Given the description of an element on the screen output the (x, y) to click on. 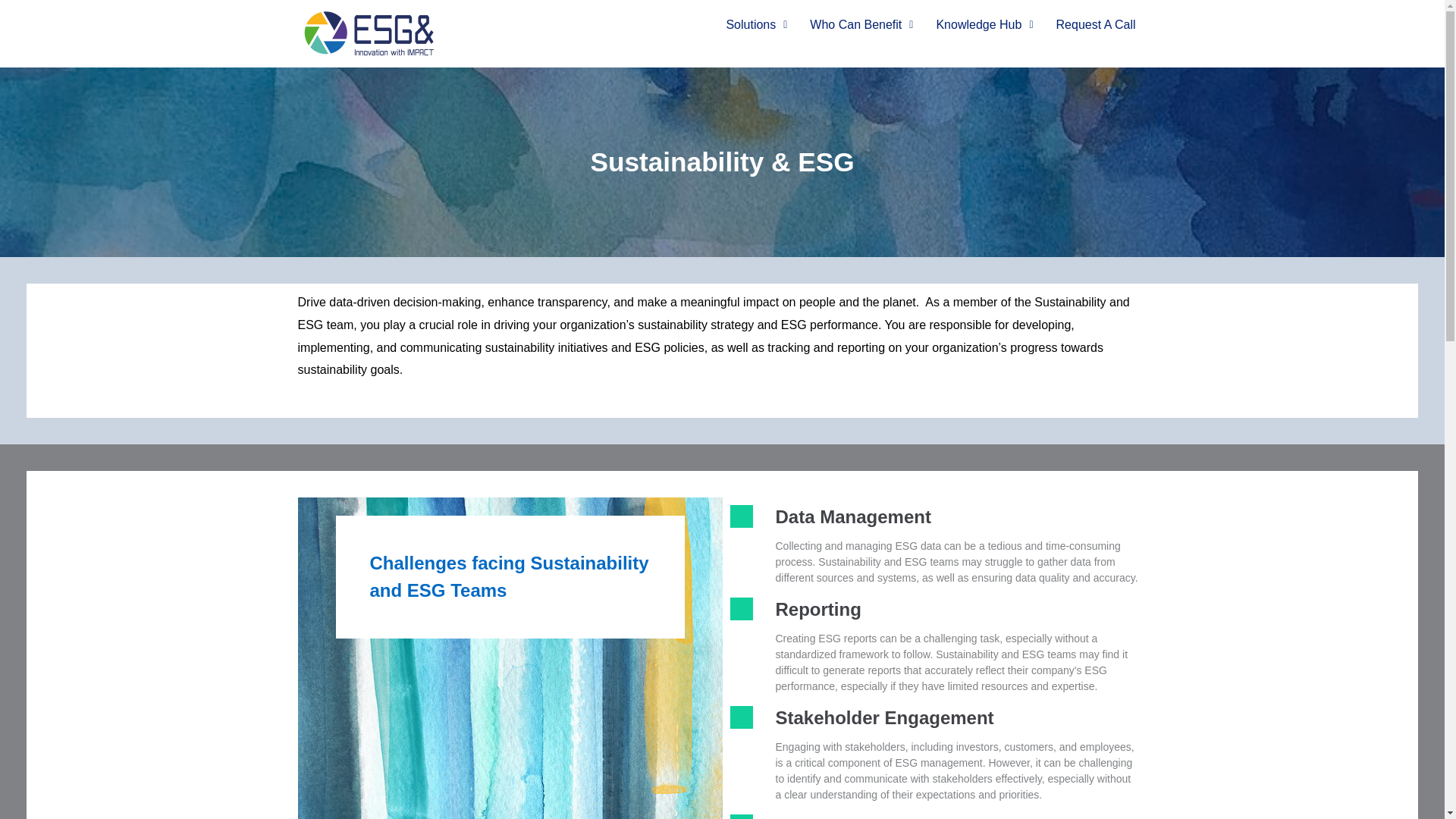
Request A Call (1096, 24)
Knowledge Hub (983, 24)
Who Can Benefit (860, 24)
Solutions (755, 24)
